Given the description of an element on the screen output the (x, y) to click on. 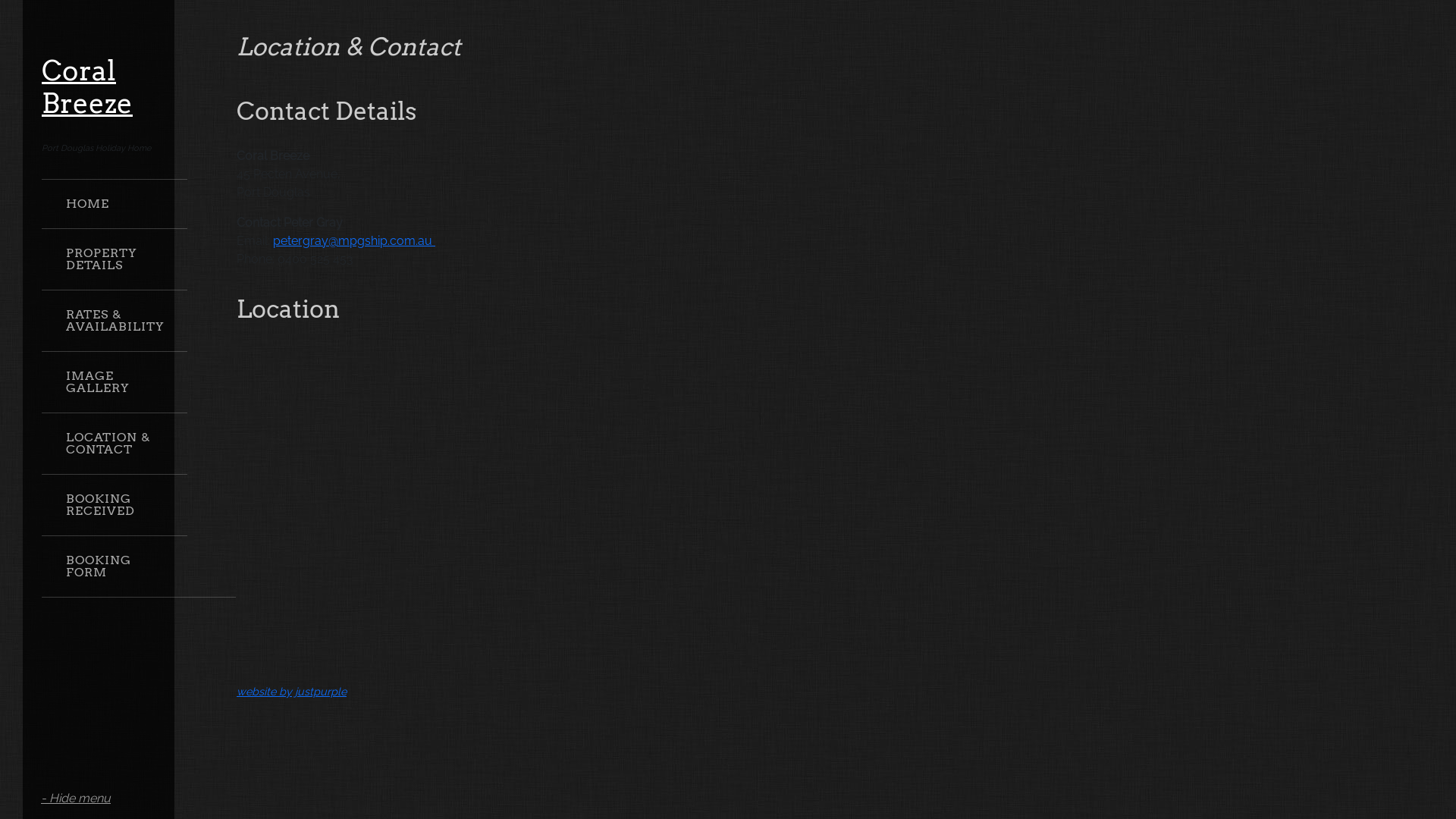
HOME Element type: text (114, 203)
BOOKING RECEIVED Element type: text (114, 504)
BOOKING FORM Element type: text (114, 565)
Coral Breeze Element type: text (86, 86)
website by justpurple Element type: text (291, 690)
RATES & AVAILABILITY Element type: text (114, 320)
IMAGE GALLERY Element type: text (114, 381)
PROPERTY DETAILS Element type: text (114, 258)
LOCATION & CONTACT Element type: text (114, 442)
- Hide menu Element type: text (75, 798)
petergray@mpgship.com.au  Element type: text (354, 240)
